Given the description of an element on the screen output the (x, y) to click on. 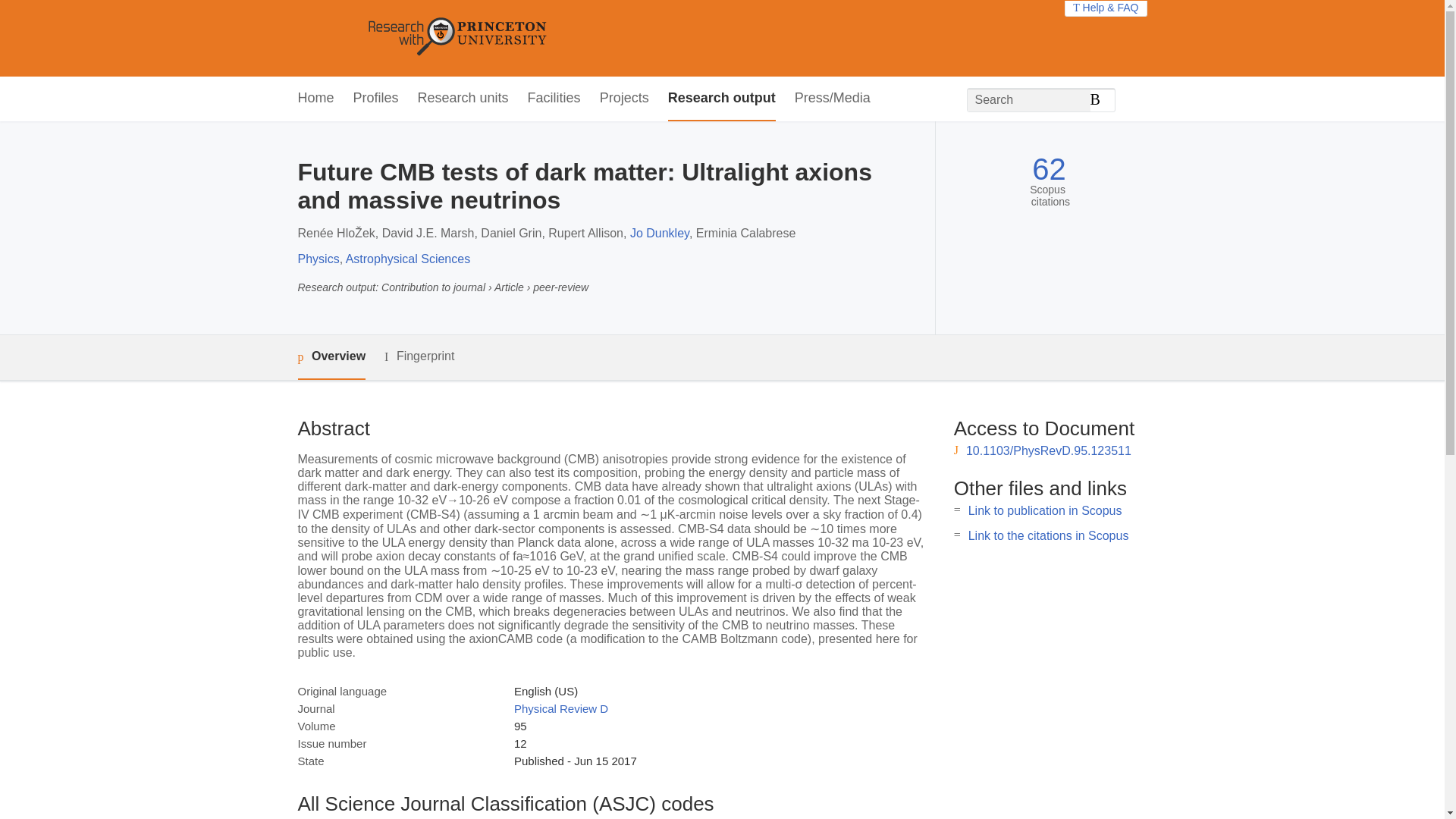
Princeton University Home (567, 38)
Facilities (553, 98)
Physics (318, 258)
Link to the citations in Scopus (1048, 535)
Research output (722, 98)
Overview (331, 357)
Fingerprint (419, 356)
Astrophysical Sciences (408, 258)
Link to publication in Scopus (1045, 510)
Projects (624, 98)
62 (1048, 169)
Jo Dunkley (659, 232)
Research units (462, 98)
Physical Review D (560, 707)
